Given the description of an element on the screen output the (x, y) to click on. 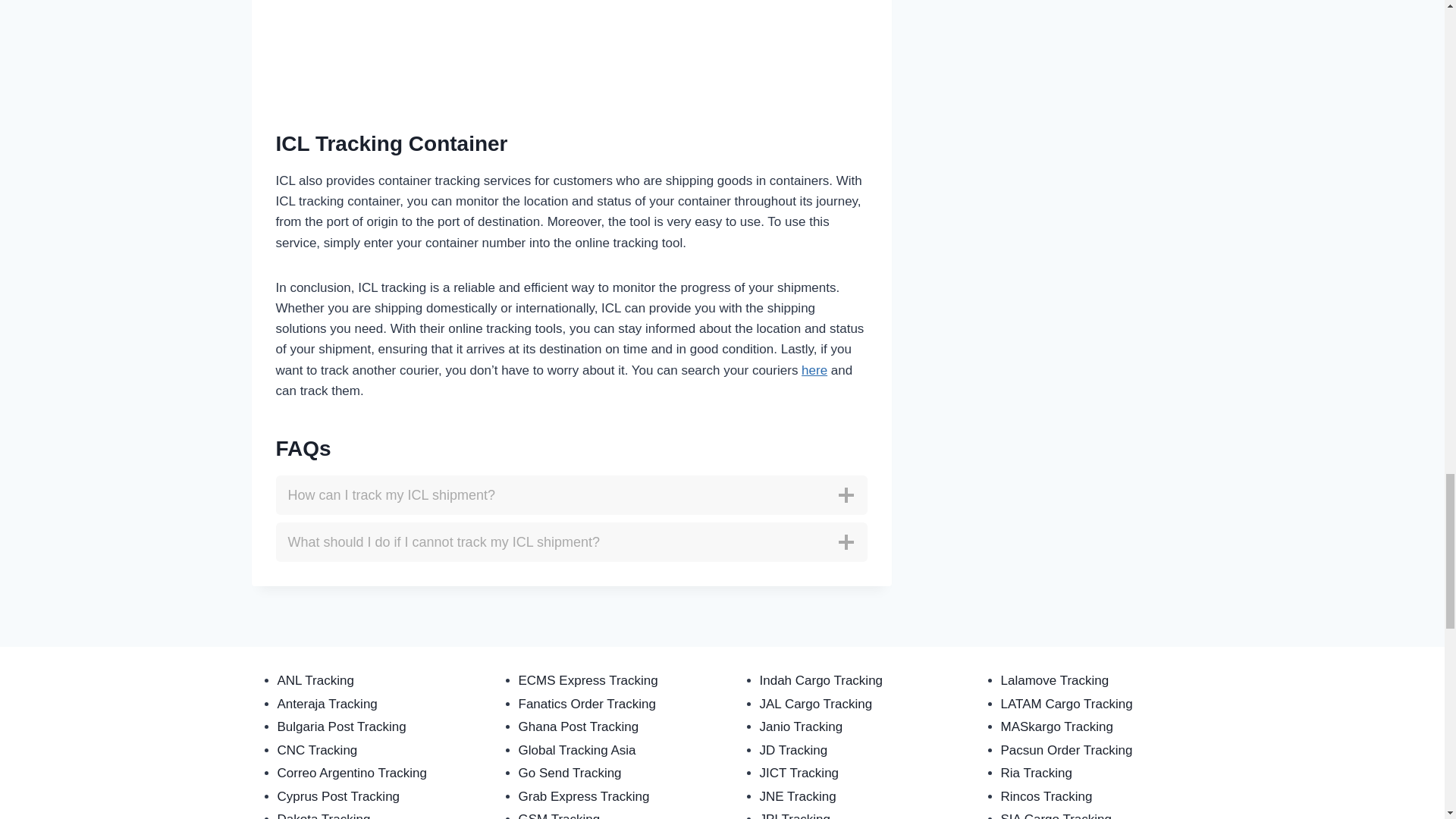
What should I do if I cannot track my ICL shipment? (571, 541)
Correo Argentino Tracking (353, 772)
here (814, 370)
Cyprus Post Tracking (339, 796)
Dakota Tracking (324, 815)
Bulgaria Post Tracking (342, 726)
Anteraja Tracking (327, 703)
CNC Tracking (318, 749)
ANL Tracking (315, 680)
How can I track my ICL shipment? (571, 495)
